Given the description of an element on the screen output the (x, y) to click on. 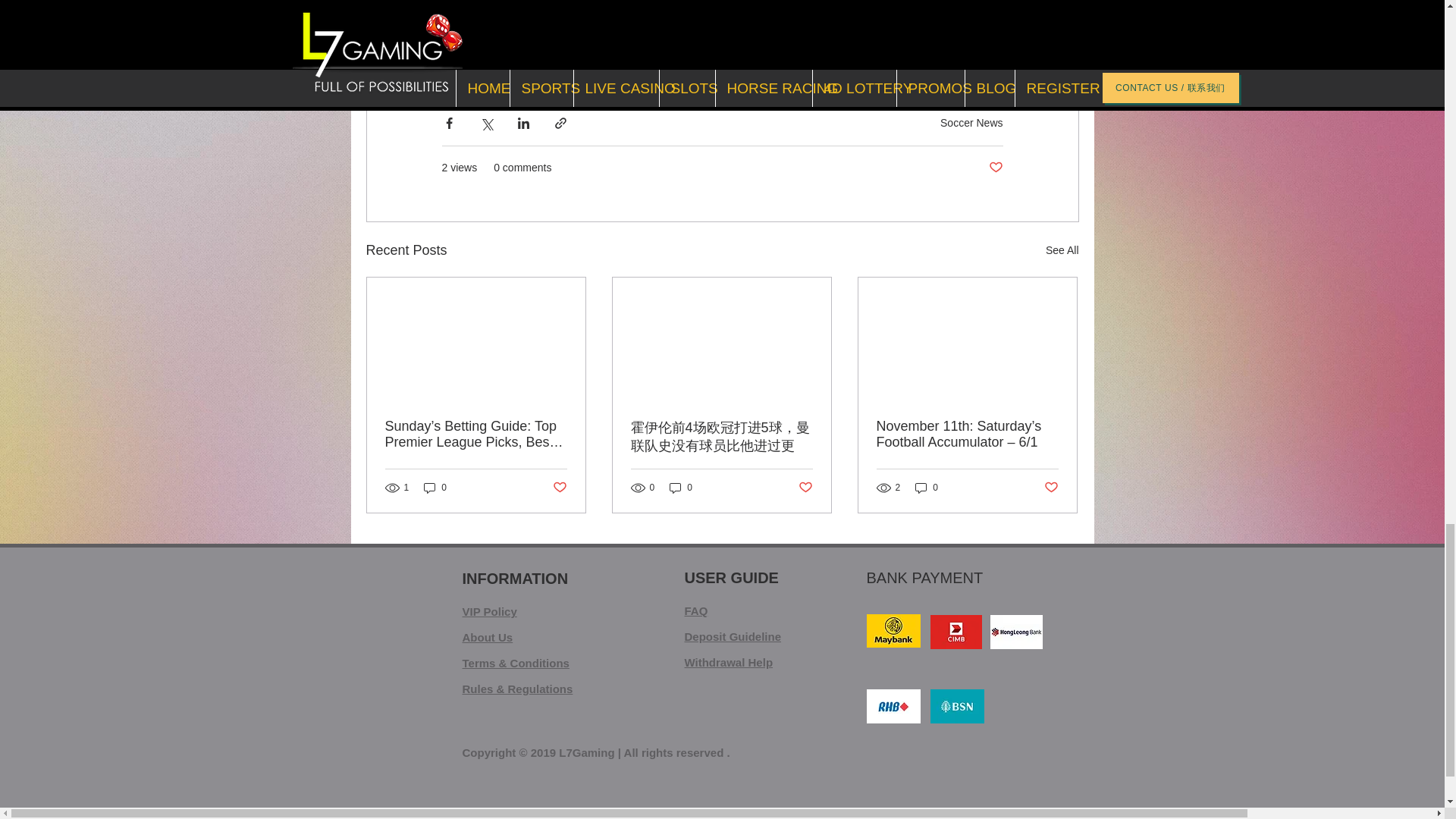
See All (1061, 250)
0 (926, 487)
bank-maybank.jpg (893, 630)
Soccer News (971, 122)
bank-bsn.jpg (957, 706)
0 (435, 487)
About Us (488, 636)
bank-cimb-1.jpg (955, 632)
VIP Policy (489, 611)
bank-hongleong.jpg (1016, 632)
0 (681, 487)
Post not marked as liked (558, 487)
Post not marked as liked (1050, 487)
Post not marked as liked (804, 487)
Post not marked as liked (995, 167)
